Given the description of an element on the screen output the (x, y) to click on. 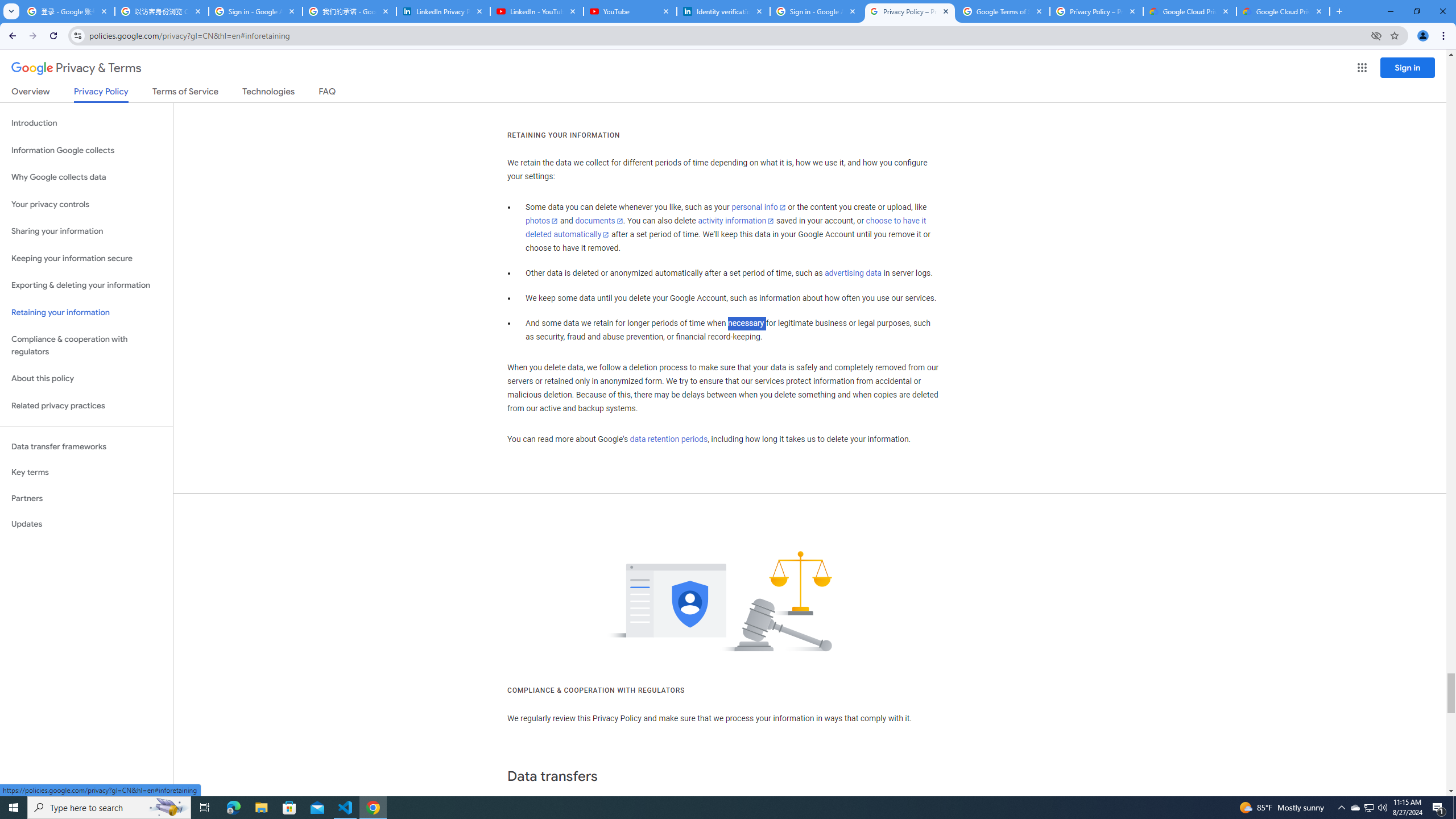
Compliance & cooperation with regulators (86, 345)
documents (599, 221)
Keeping your information secure (86, 258)
photos (542, 221)
Sign in - Google Accounts (815, 11)
Retaining your information (86, 312)
Sharing your information (86, 230)
